Given the description of an element on the screen output the (x, y) to click on. 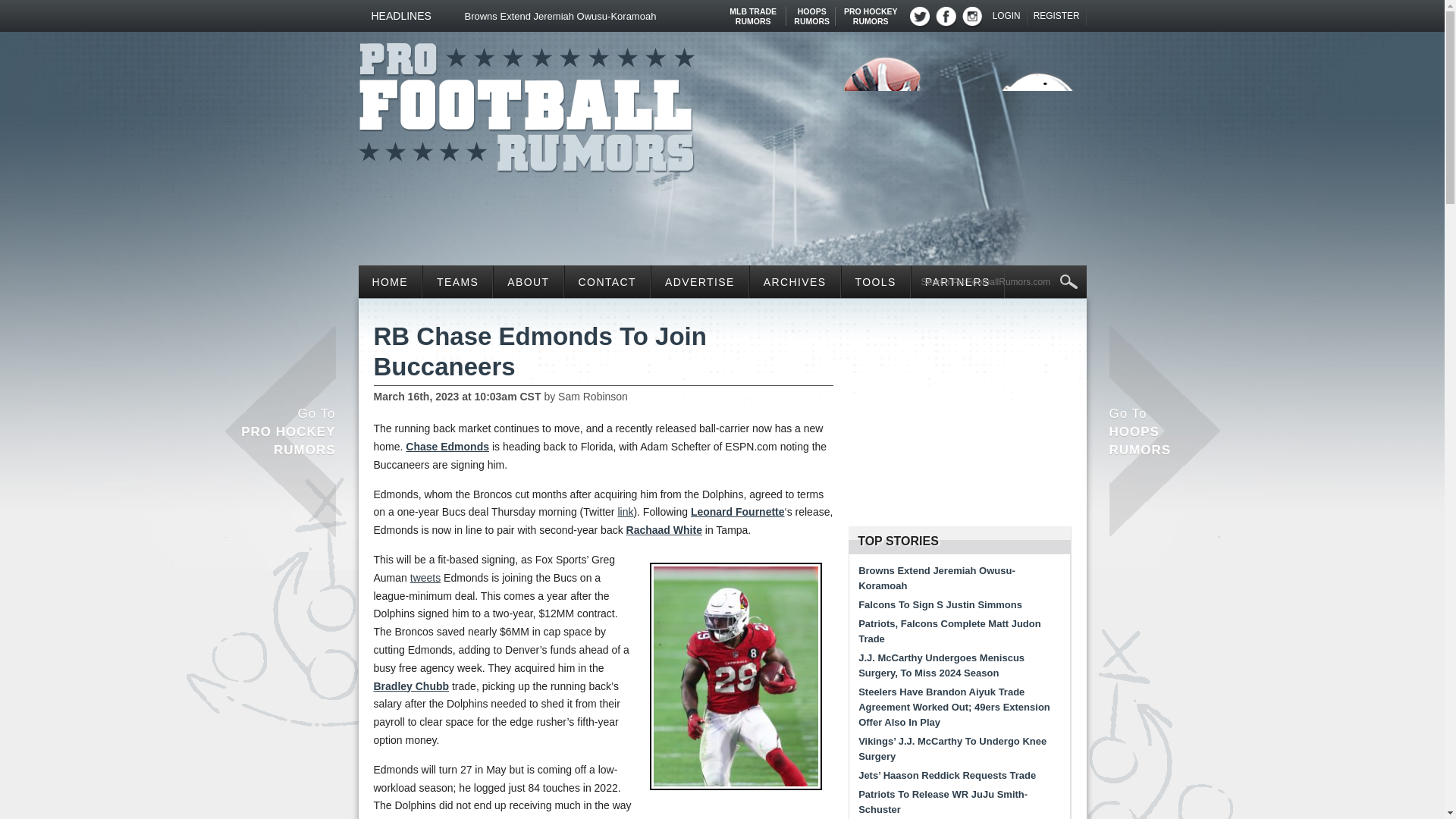
REGISTER (1056, 16)
TEAMS (870, 11)
Browns Extend Jeremiah Owusu-Koramoah (457, 281)
Search for: (610, 16)
LOGIN (999, 282)
Pro Football Rumors (1007, 16)
HOME (811, 11)
Search (526, 103)
